Given the description of an element on the screen output the (x, y) to click on. 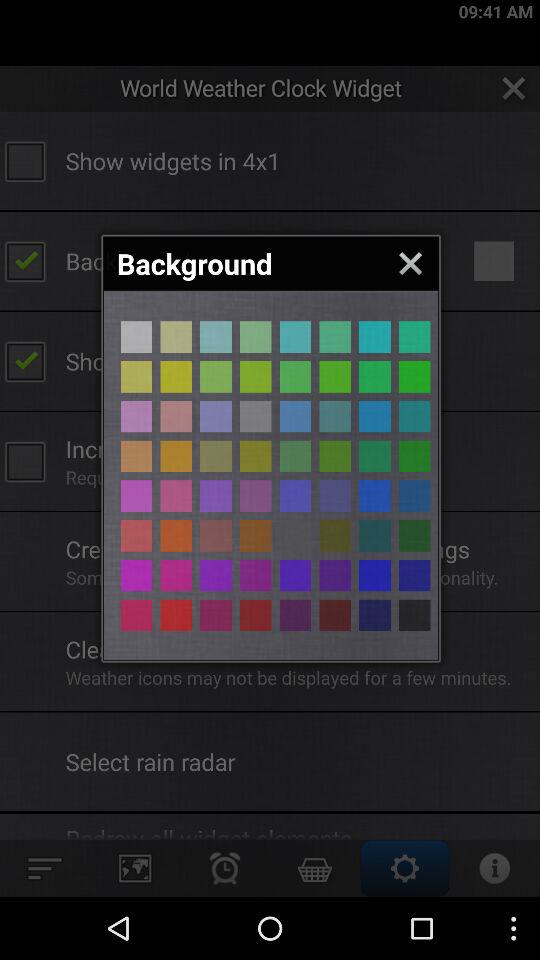
switch orange color option (335, 535)
